Given the description of an element on the screen output the (x, y) to click on. 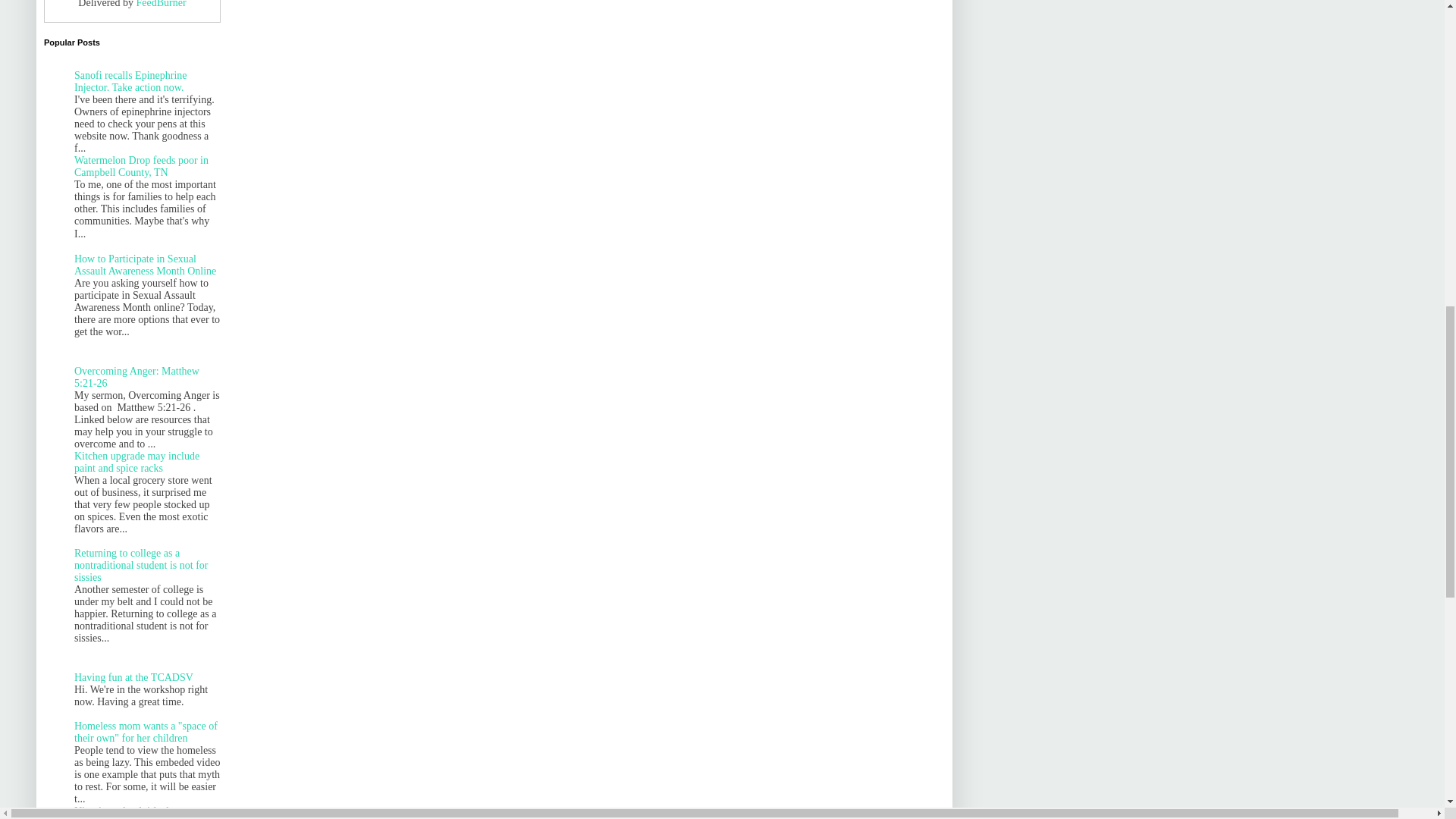
FeedBurner (161, 4)
How to Participate in Sexual Assault Awareness Month Online (144, 264)
Kitchen upgrade may include paint and spice racks (136, 462)
Overcoming Anger: Matthew 5:21-26 (136, 377)
Watermelon Drop feeds poor in Campbell County, TN (141, 166)
Sanofi recalls Epinephrine Injector. Take action now. (130, 81)
Having fun at the TCADSV (133, 677)
Homeless mom wants a "space of their own" for her children (145, 731)
